Given the description of an element on the screen output the (x, y) to click on. 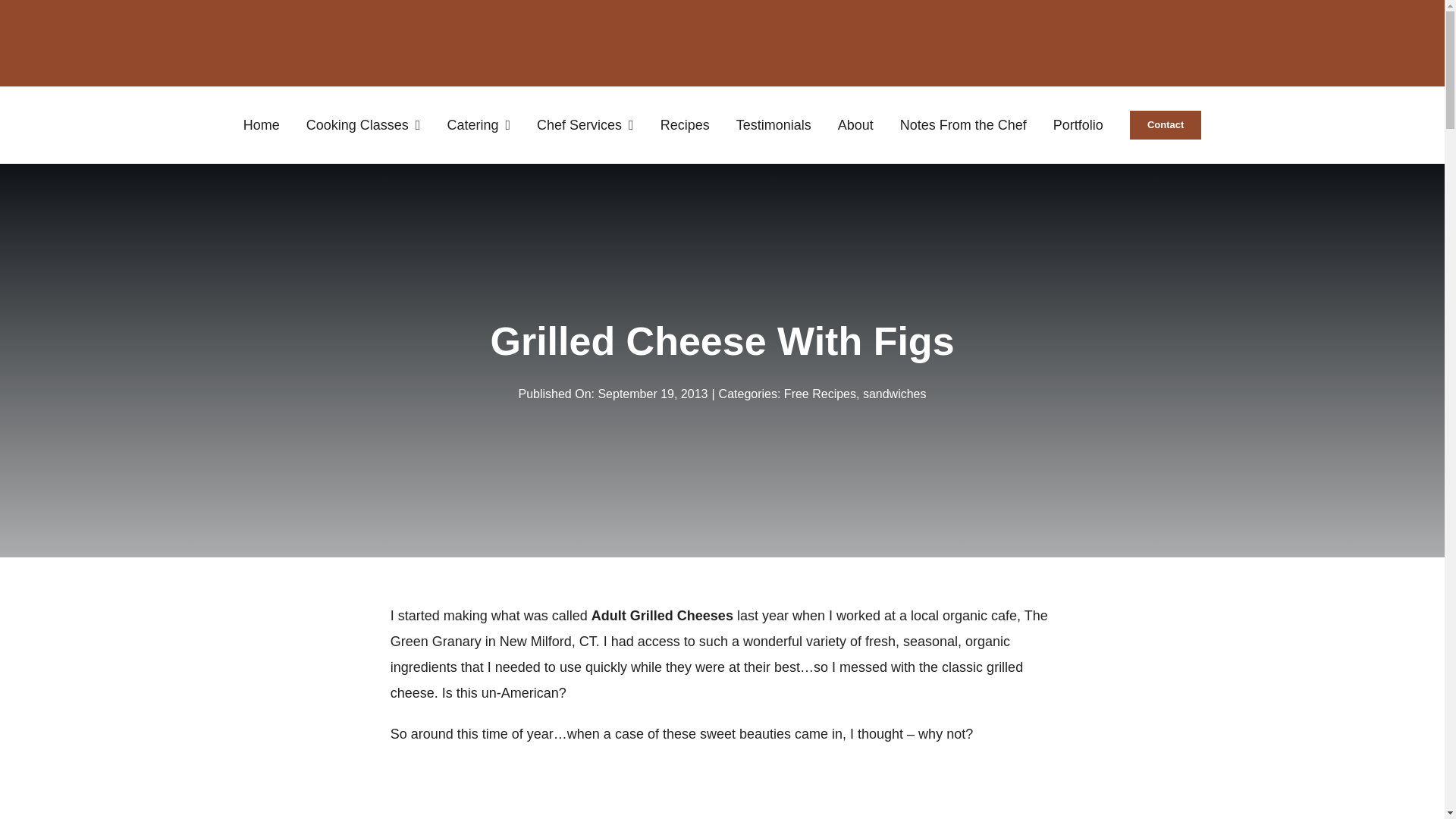
Contact (1165, 124)
Recipes (685, 124)
Notes From the Chef (962, 124)
Portfolio (1077, 124)
Chef Services (585, 124)
Cooking Classes (362, 124)
Testimonials (773, 124)
Catering (478, 124)
sandwiches (894, 393)
Free Recipes (820, 393)
